Given the description of an element on the screen output the (x, y) to click on. 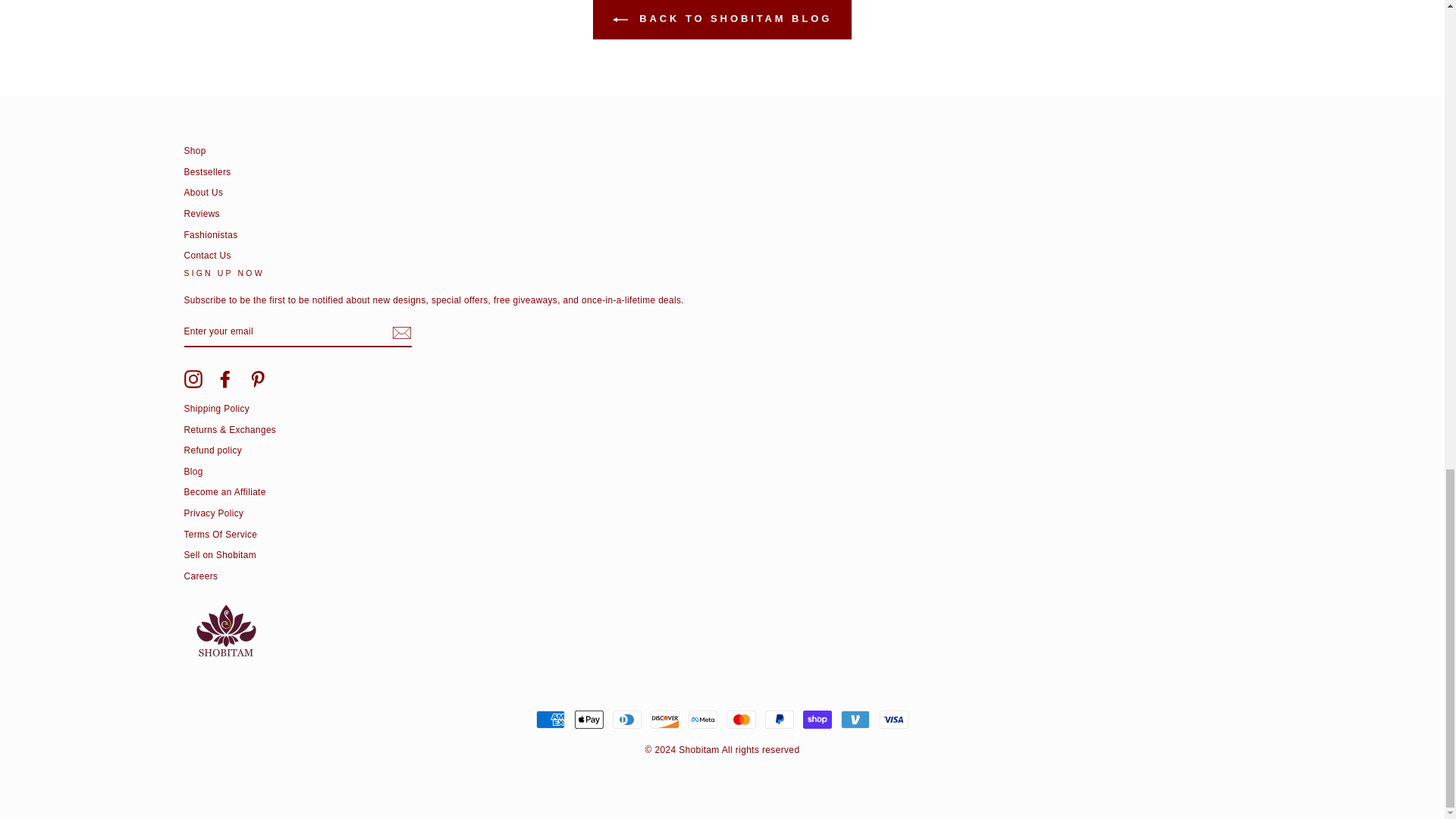
Diners Club (627, 719)
Shobitam on Pinterest (257, 379)
American Express (549, 719)
Discover (664, 719)
Apple Pay (589, 719)
Shobitam on Facebook (224, 379)
Mastercard (740, 719)
Meta Pay (702, 719)
Shobitam on Instagram (192, 379)
